Given the description of an element on the screen output the (x, y) to click on. 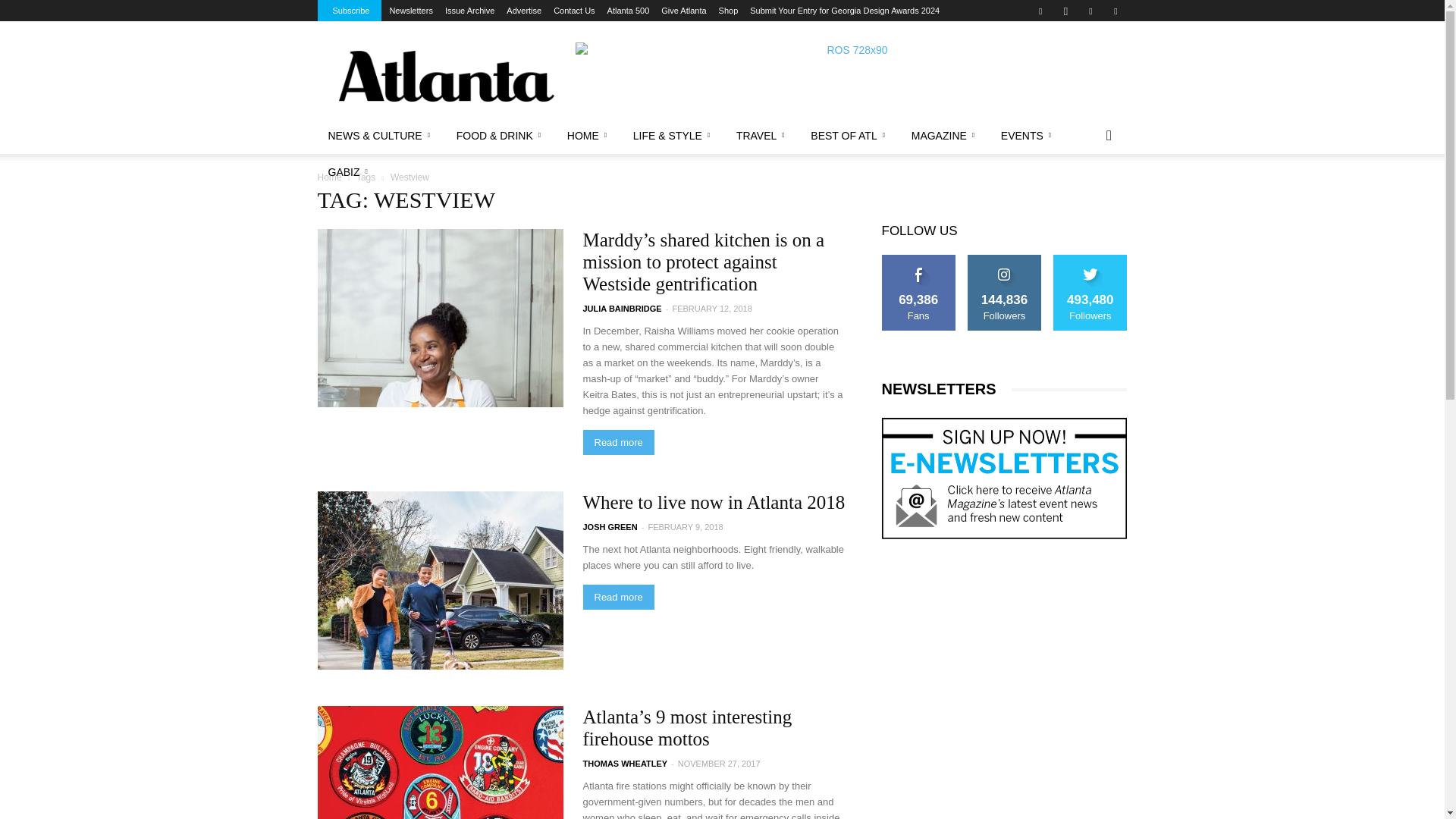
Facebook (1040, 10)
Twitter (1114, 10)
Linkedin (1090, 10)
Atlanta Magazine (445, 75)
Instagram (1065, 10)
